Given the description of an element on the screen output the (x, y) to click on. 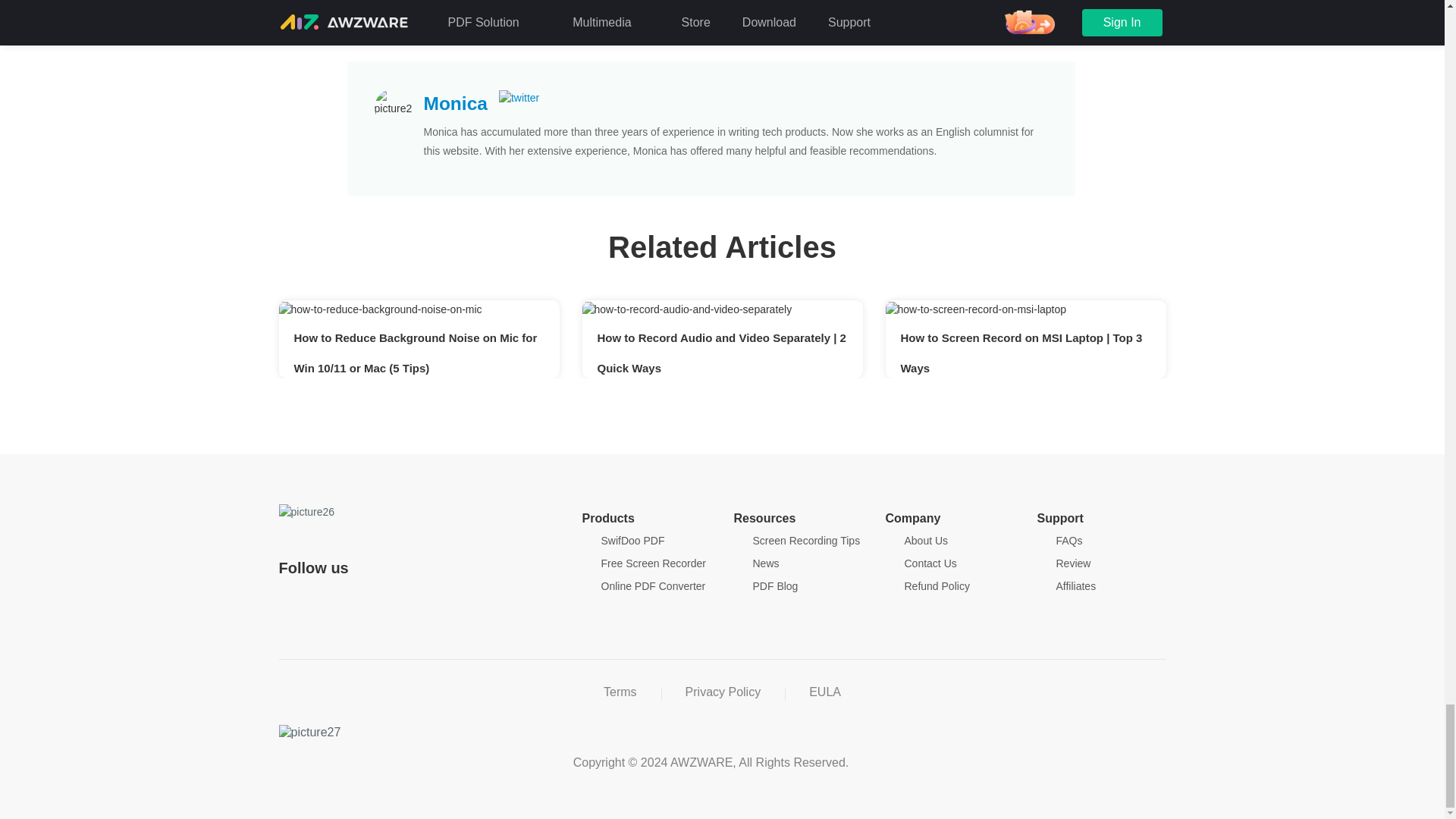
Monica (454, 103)
